Given the description of an element on the screen output the (x, y) to click on. 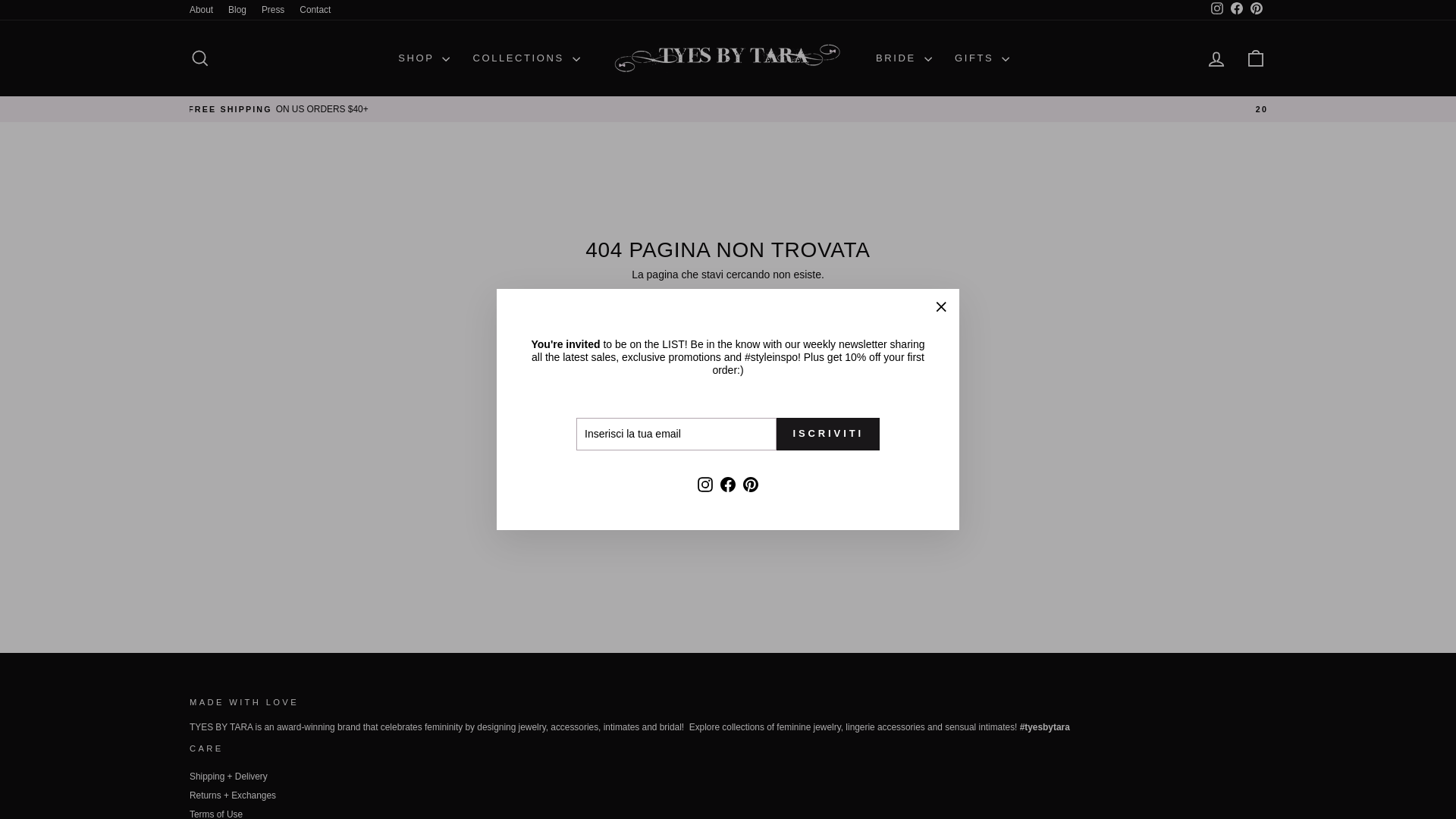
TYES BY TARA su Instagram (1217, 9)
TYES BY TARA su Pinterest (1256, 9)
TYES BY TARA su Facebook (727, 484)
ICON-SEARCH (200, 57)
instagram (1217, 8)
icon-X (941, 306)
ACCOUNT (1216, 58)
TYES BY TARA su Pinterest (750, 484)
TYES BY TARA su Instagram (705, 484)
ICON-BAG-MINIMAL (1255, 57)
